Given the description of an element on the screen output the (x, y) to click on. 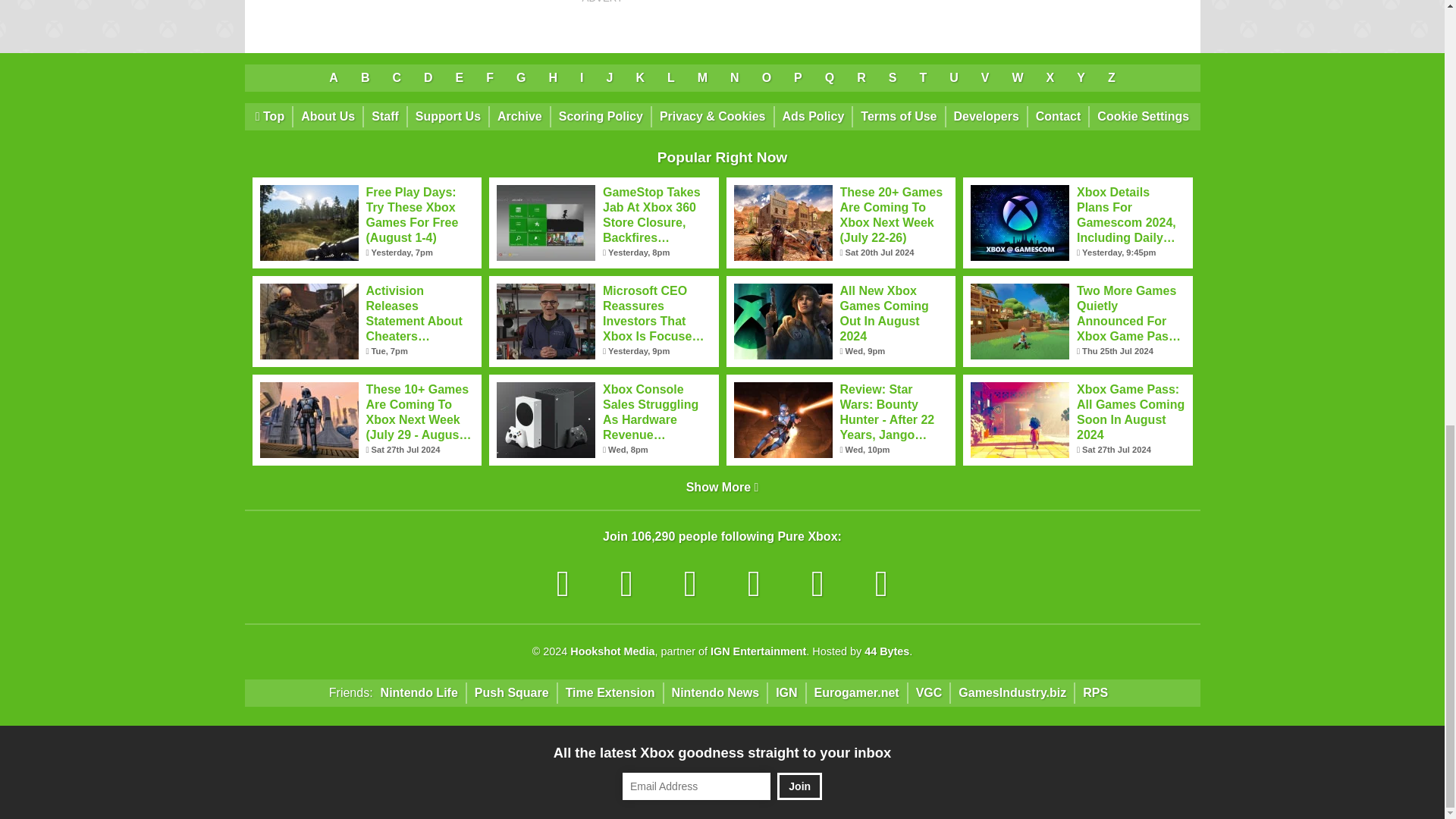
Join (799, 786)
